Given the description of an element on the screen output the (x, y) to click on. 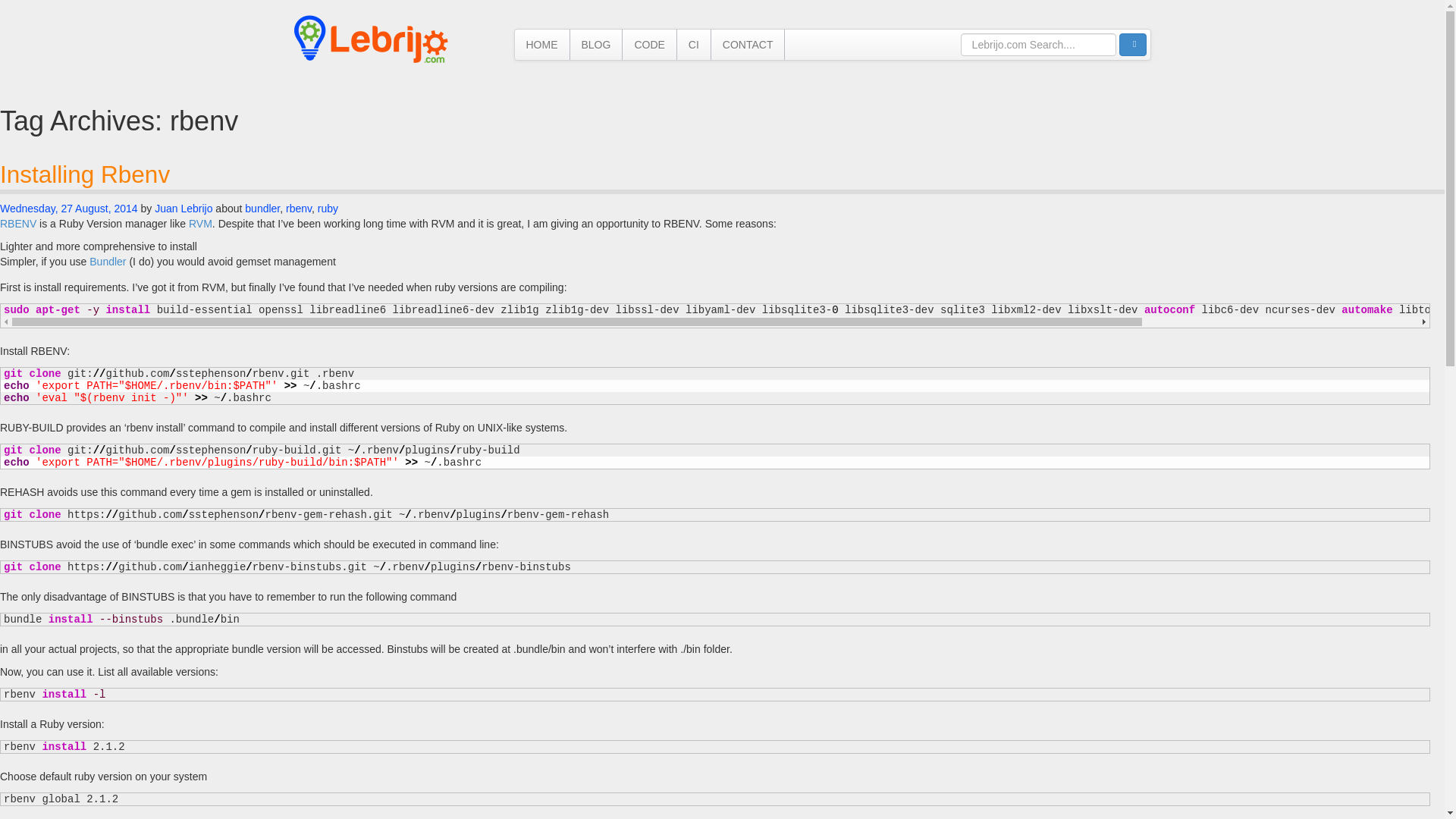
Juan Lebrijo (183, 208)
Installing Rbenv (85, 174)
BLOG (596, 44)
CODE (649, 44)
Bundler (106, 261)
Permalink to Installing Rbenv (69, 208)
rbenv (298, 208)
HOME (541, 44)
Lebrijo.com Blog (371, 39)
CONTACT (747, 44)
RVM (200, 223)
bundler (261, 208)
RBENV (18, 223)
ruby (327, 208)
CI (693, 44)
